Given the description of an element on the screen output the (x, y) to click on. 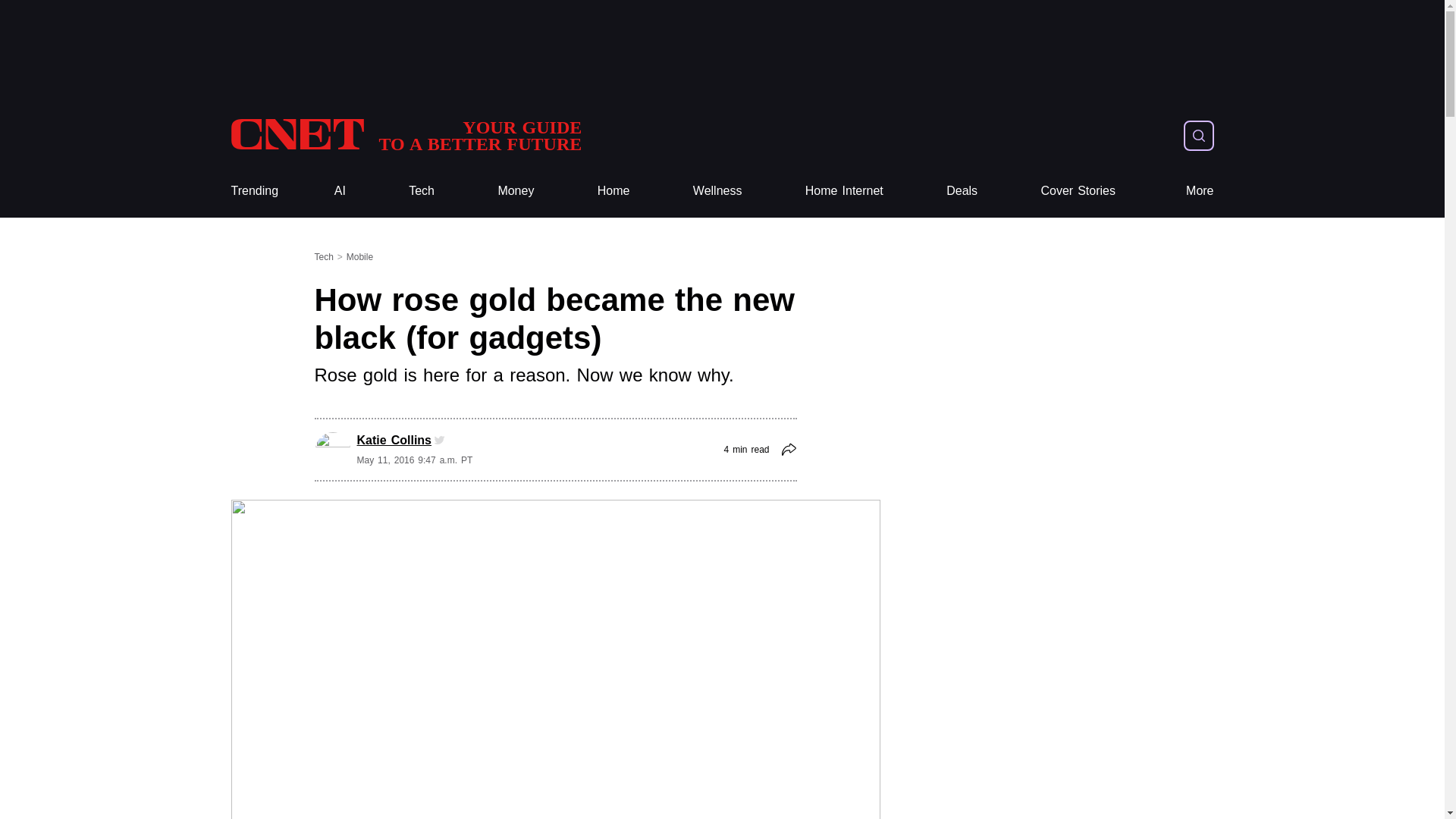
CNET (405, 135)
Home (613, 190)
Wellness (717, 190)
Home Internet (844, 190)
Cover Stories (1078, 190)
Tech (421, 190)
Home Internet (844, 190)
Trending (254, 190)
Money (515, 190)
Wellness (717, 190)
Money (515, 190)
Deals (961, 190)
Home (613, 190)
More (1199, 190)
Tech (421, 190)
